Given the description of an element on the screen output the (x, y) to click on. 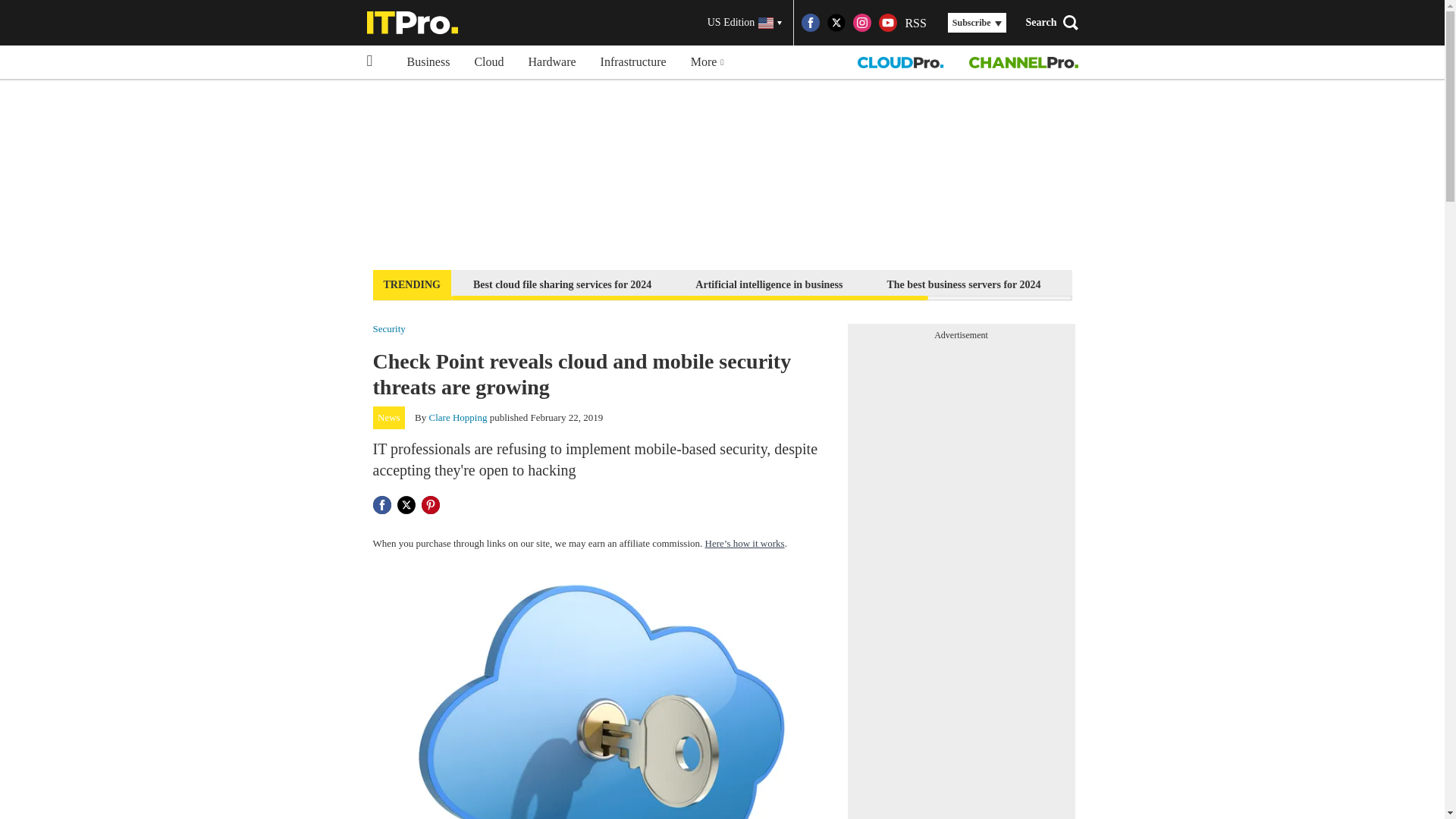
Artificial intelligence in business (768, 284)
Hardware (552, 61)
Best cloud file sharing services for 2024 (561, 284)
Infrastructure (633, 61)
Clare Hopping (458, 417)
Cloud (488, 61)
The best business servers for 2024 (962, 284)
RSS (915, 22)
Business (427, 61)
Subscribe to the ITPro newsletter (1161, 284)
